Given the description of an element on the screen output the (x, y) to click on. 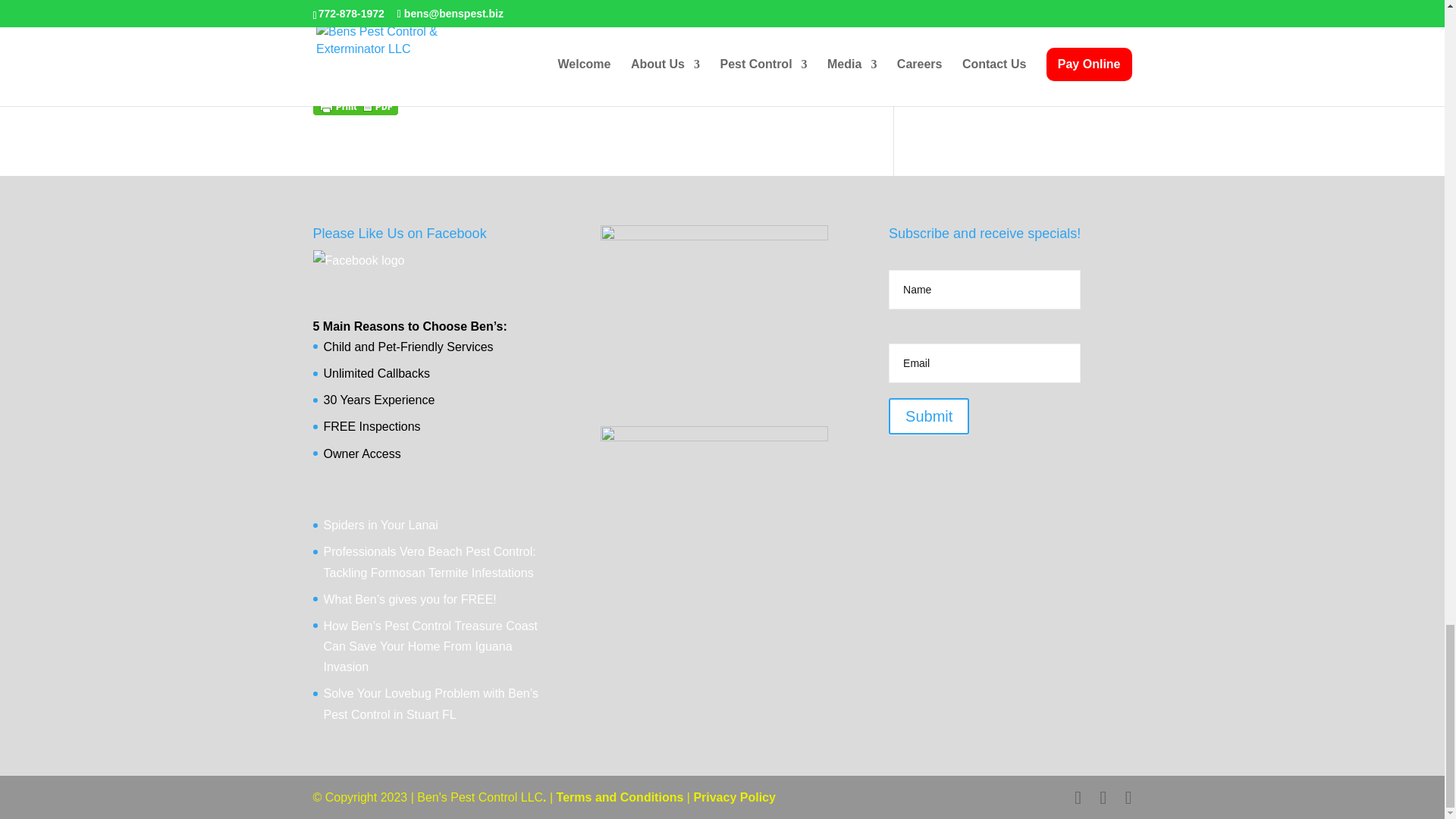
Spiders in Your Lanai (380, 524)
